Given the description of an element on the screen output the (x, y) to click on. 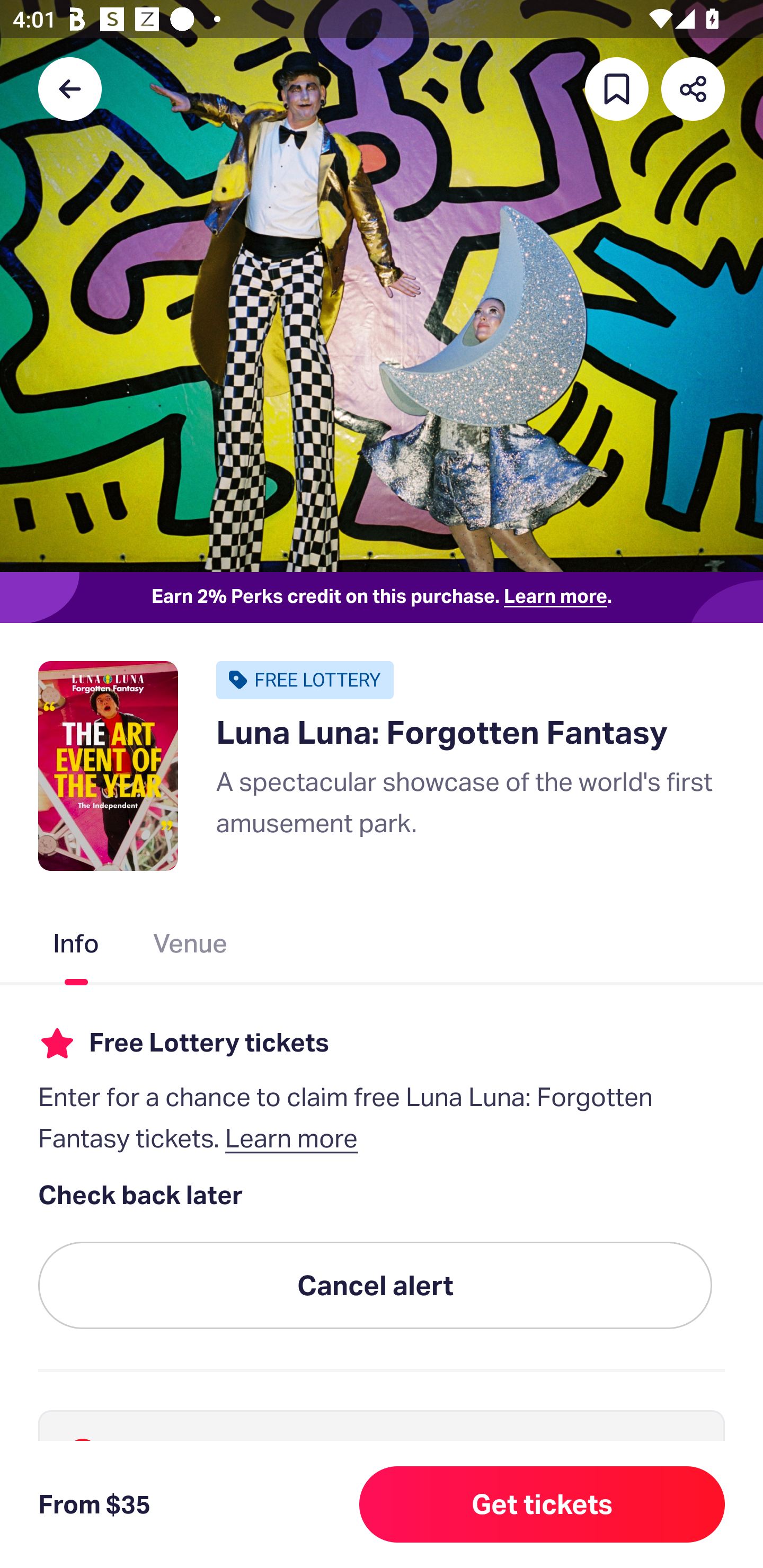
Earn 2% Perks credit on this purchase. Learn more. (381, 597)
Venue (190, 946)
Cancel alert (374, 1286)
Get tickets (541, 1504)
